Given the description of an element on the screen output the (x, y) to click on. 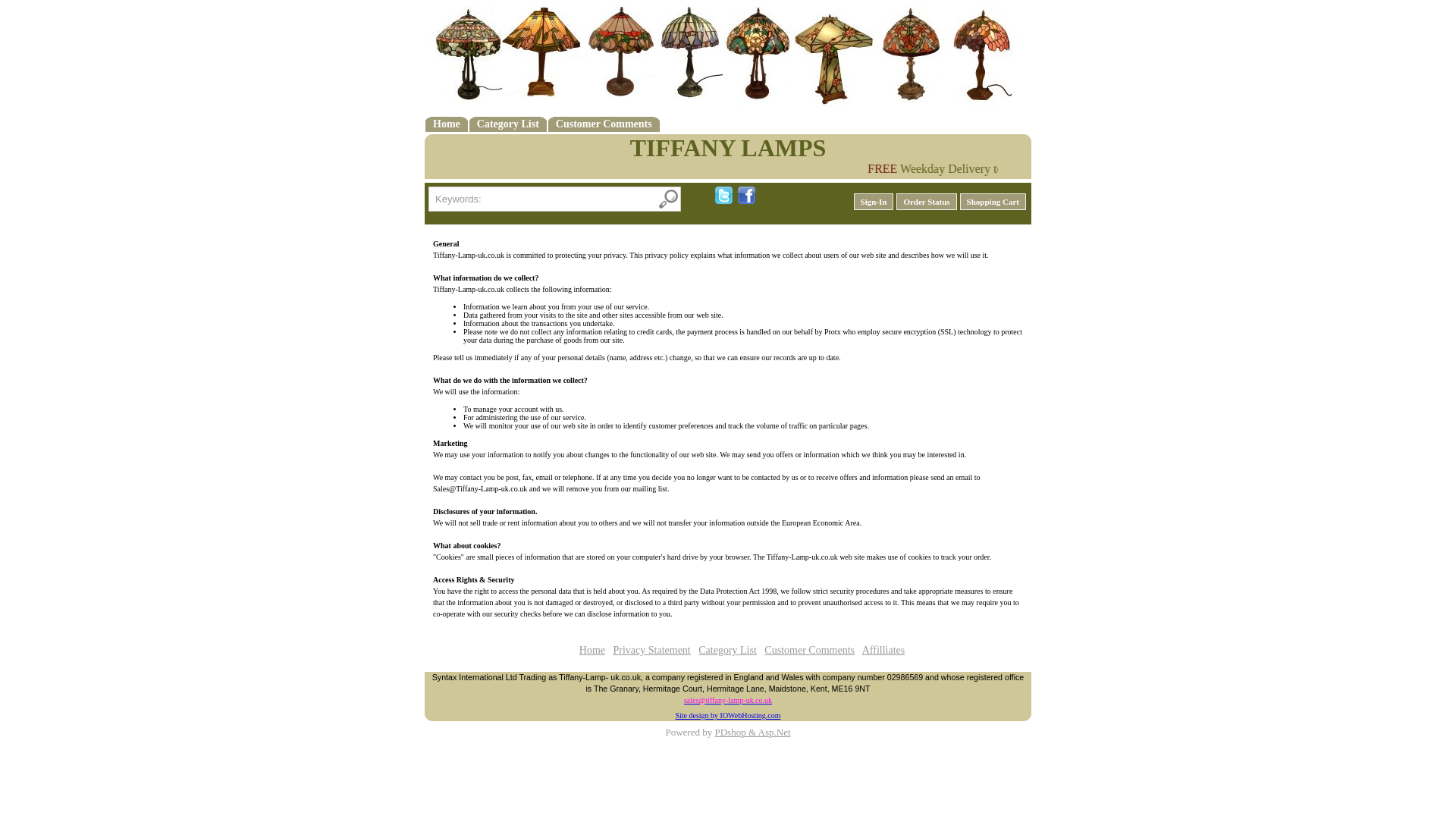
Site design by IOWebHosting.com (727, 715)
Keywords: (554, 198)
Shopping Cart (992, 201)
Sign-In (873, 201)
Home (592, 650)
Category List (507, 123)
Privacy Statement (651, 650)
Home (446, 123)
Affilliates (883, 650)
Keywords: (554, 198)
Category List (727, 650)
Order Status (926, 201)
Customer Comments (604, 123)
Customer Comments (809, 650)
